Given the description of an element on the screen output the (x, y) to click on. 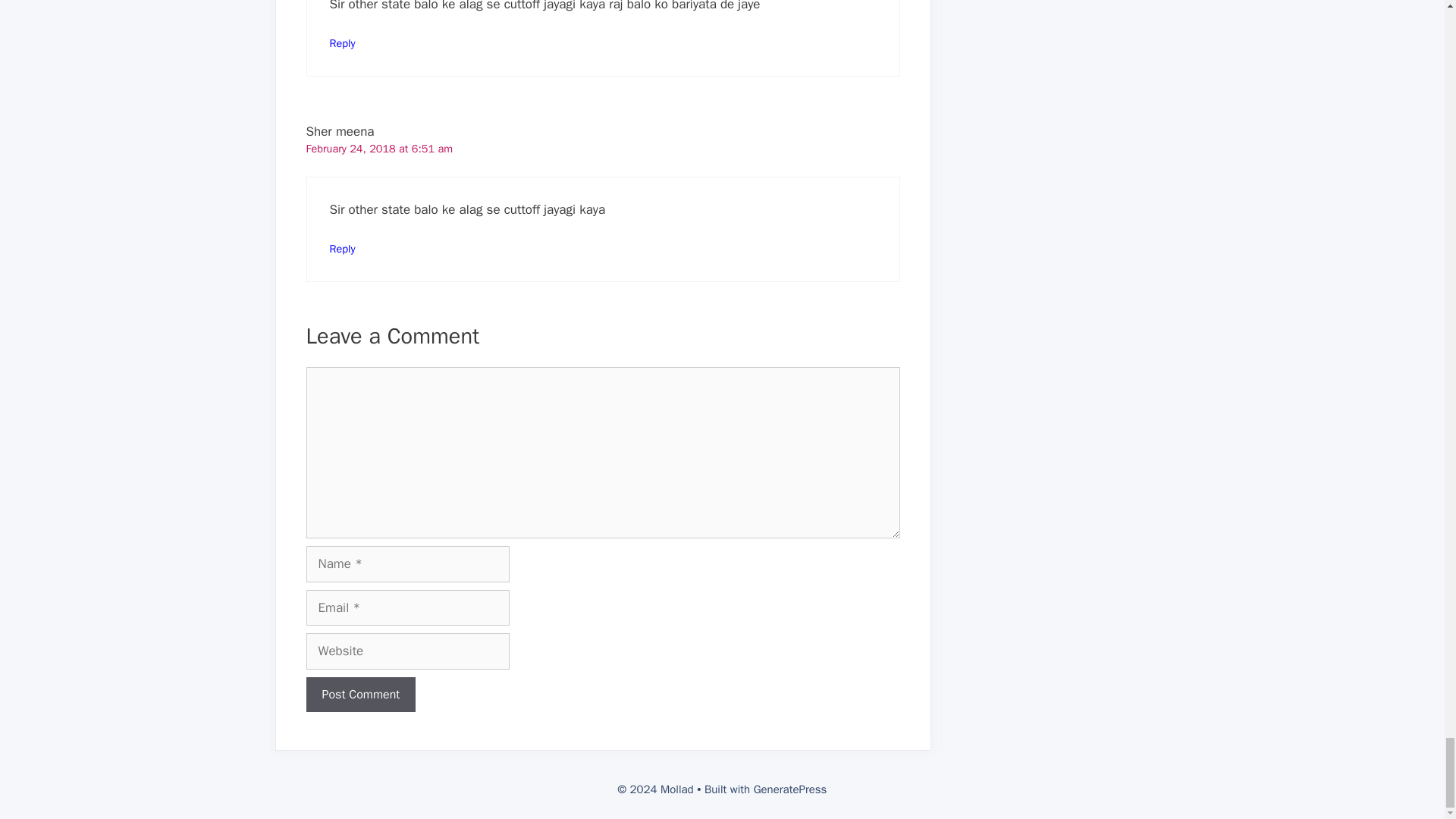
Post Comment (360, 694)
